Given the description of an element on the screen output the (x, y) to click on. 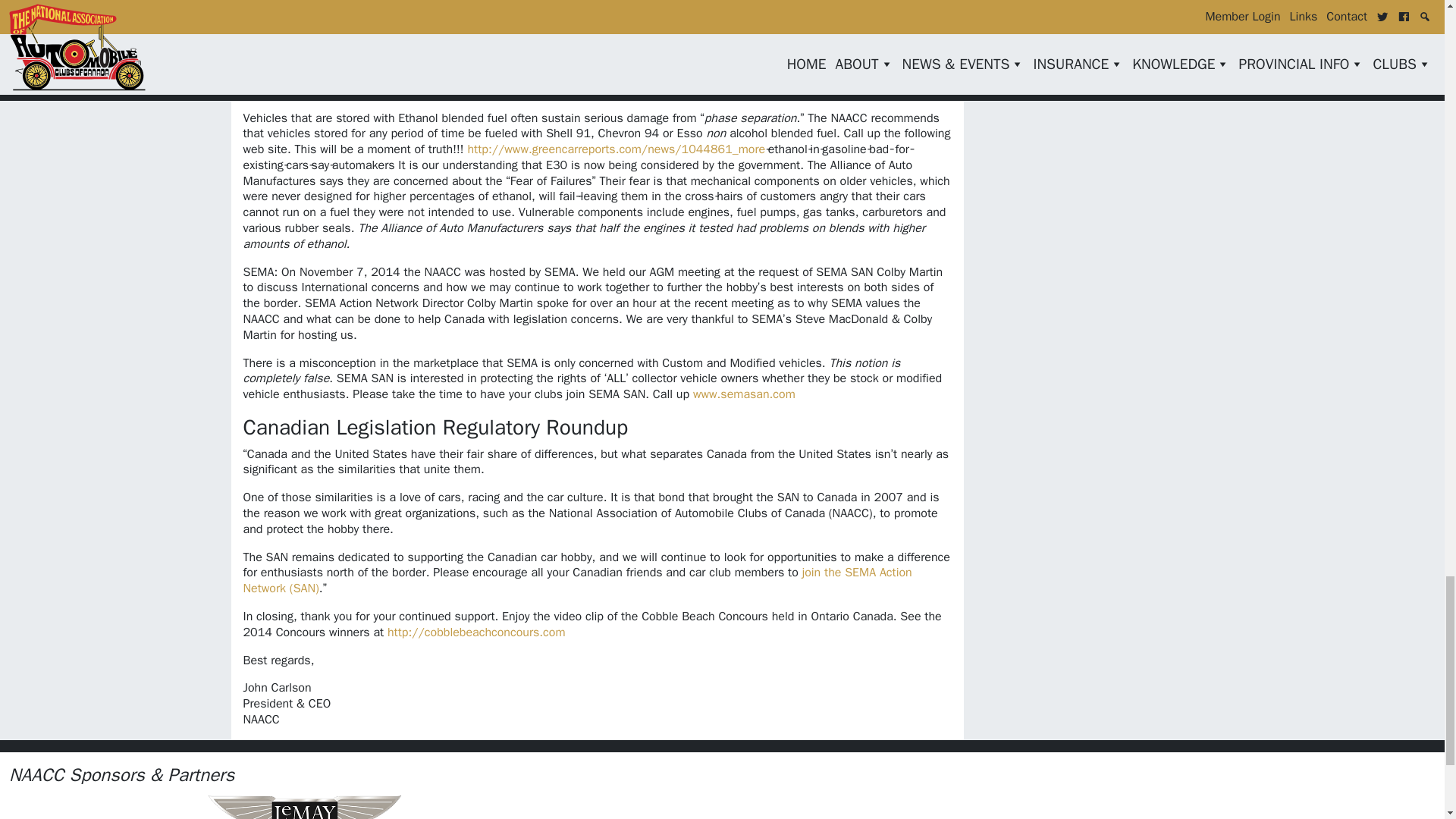
logo-lemay-museum (305, 805)
